Given the description of an element on the screen output the (x, y) to click on. 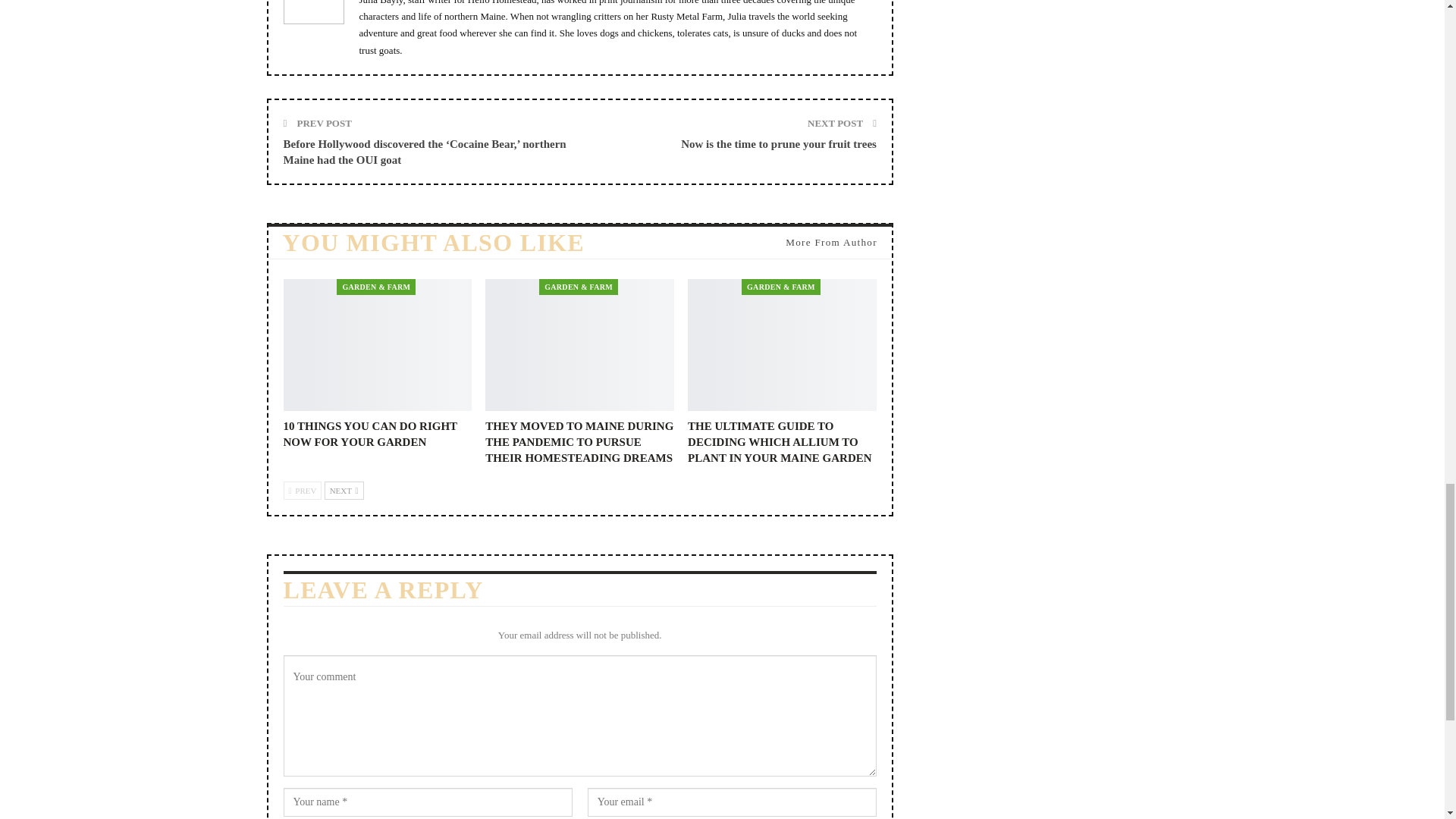
Now is the time to prune your fruit trees (778, 143)
10 things you can do right now for your garden (370, 433)
More From Author (826, 242)
Previous (302, 490)
10 THINGS YOU CAN DO RIGHT NOW FOR YOUR GARDEN (370, 433)
YOU MIGHT ALSO LIKE (432, 246)
10 things you can do right now for your garden (377, 345)
